Given the description of an element on the screen output the (x, y) to click on. 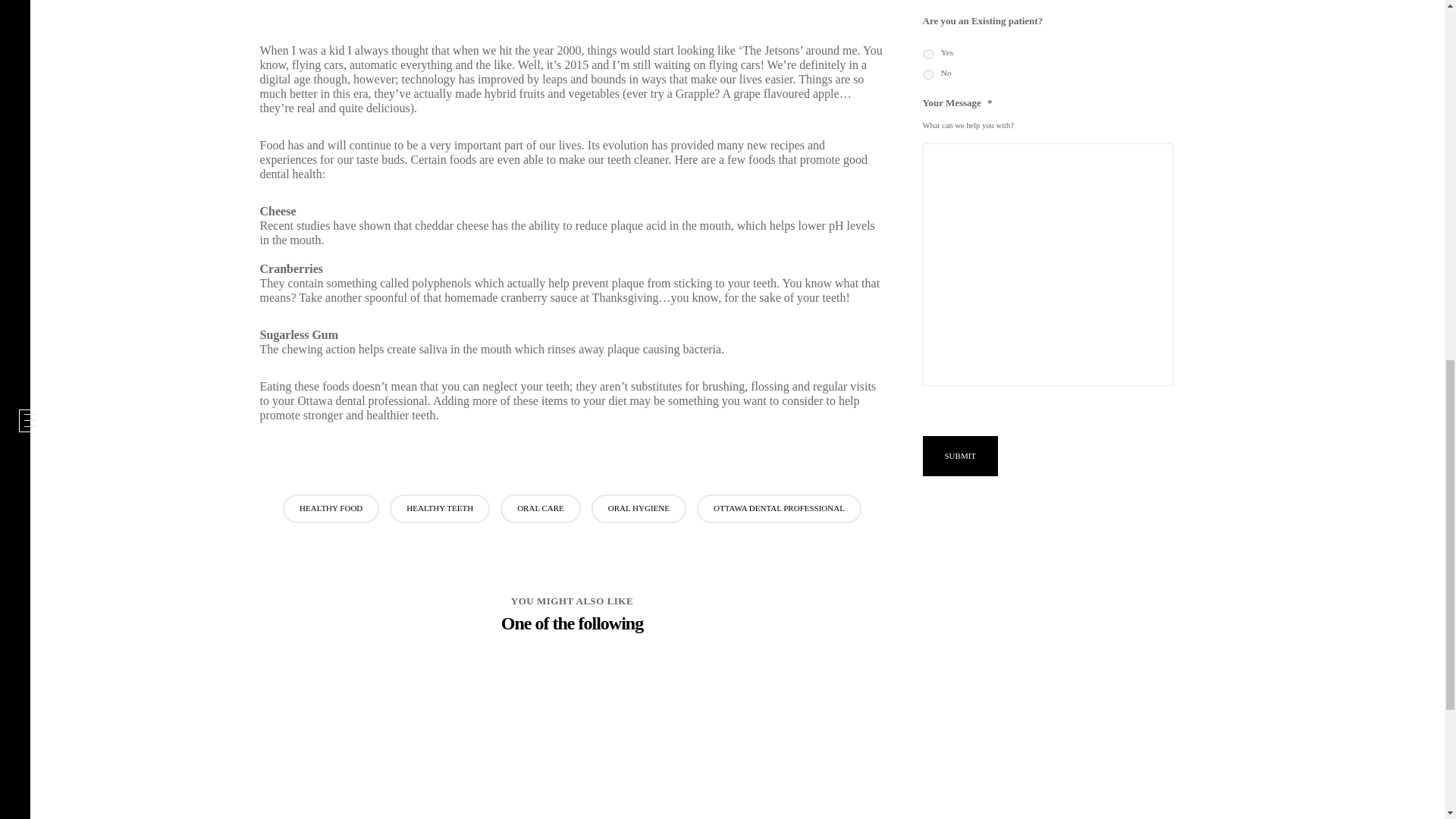
ORAL CARE (540, 508)
HEALTHY TEETH (439, 508)
Yes (928, 53)
Submit (959, 455)
OTTAWA DENTAL PROFESSIONAL (779, 508)
ORAL HYGIENE (638, 508)
No (928, 74)
HEALTHY FOOD (330, 508)
